Given the description of an element on the screen output the (x, y) to click on. 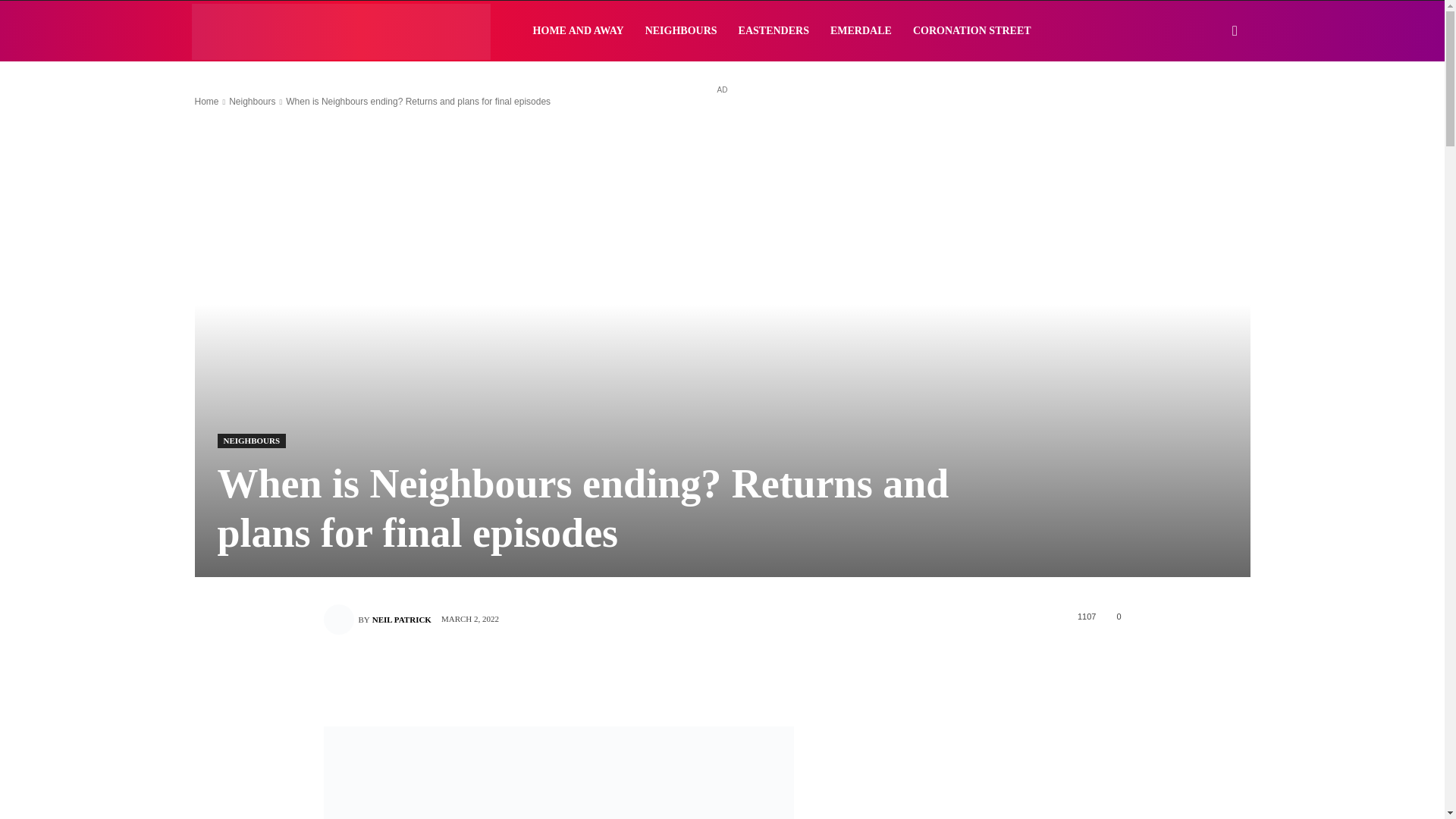
Home (205, 101)
Neighbours (251, 101)
HOME AND AWAY (578, 30)
CORONATION STREET (972, 30)
NEIL PATRICK (401, 619)
EASTENDERS (773, 30)
NEIGHBOURS (250, 440)
0 (1116, 614)
EMERDALE (860, 30)
NEIGHBOURS (681, 30)
